Given the description of an element on the screen output the (x, y) to click on. 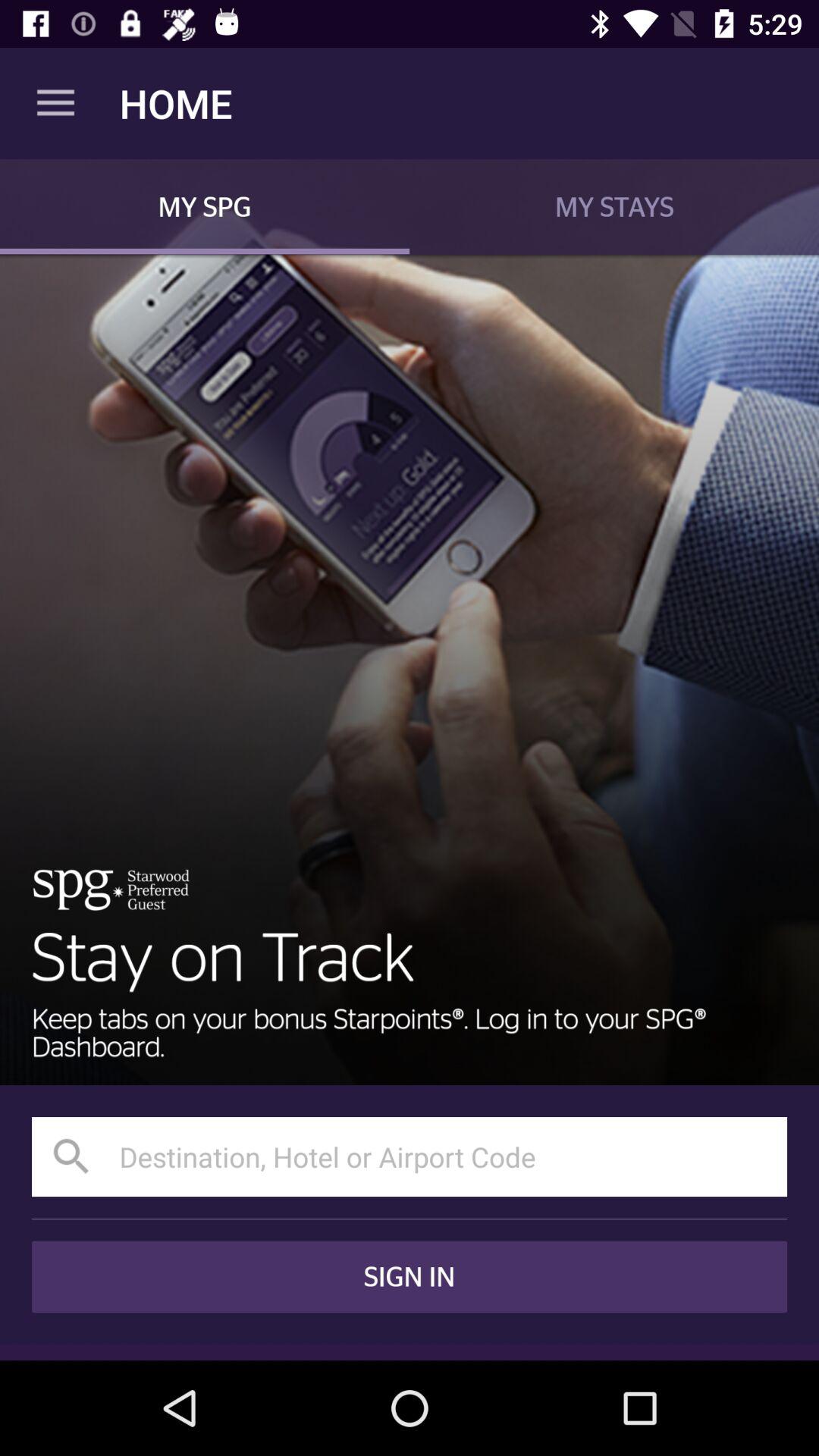
click the my spg item (204, 206)
